Given the description of an element on the screen output the (x, y) to click on. 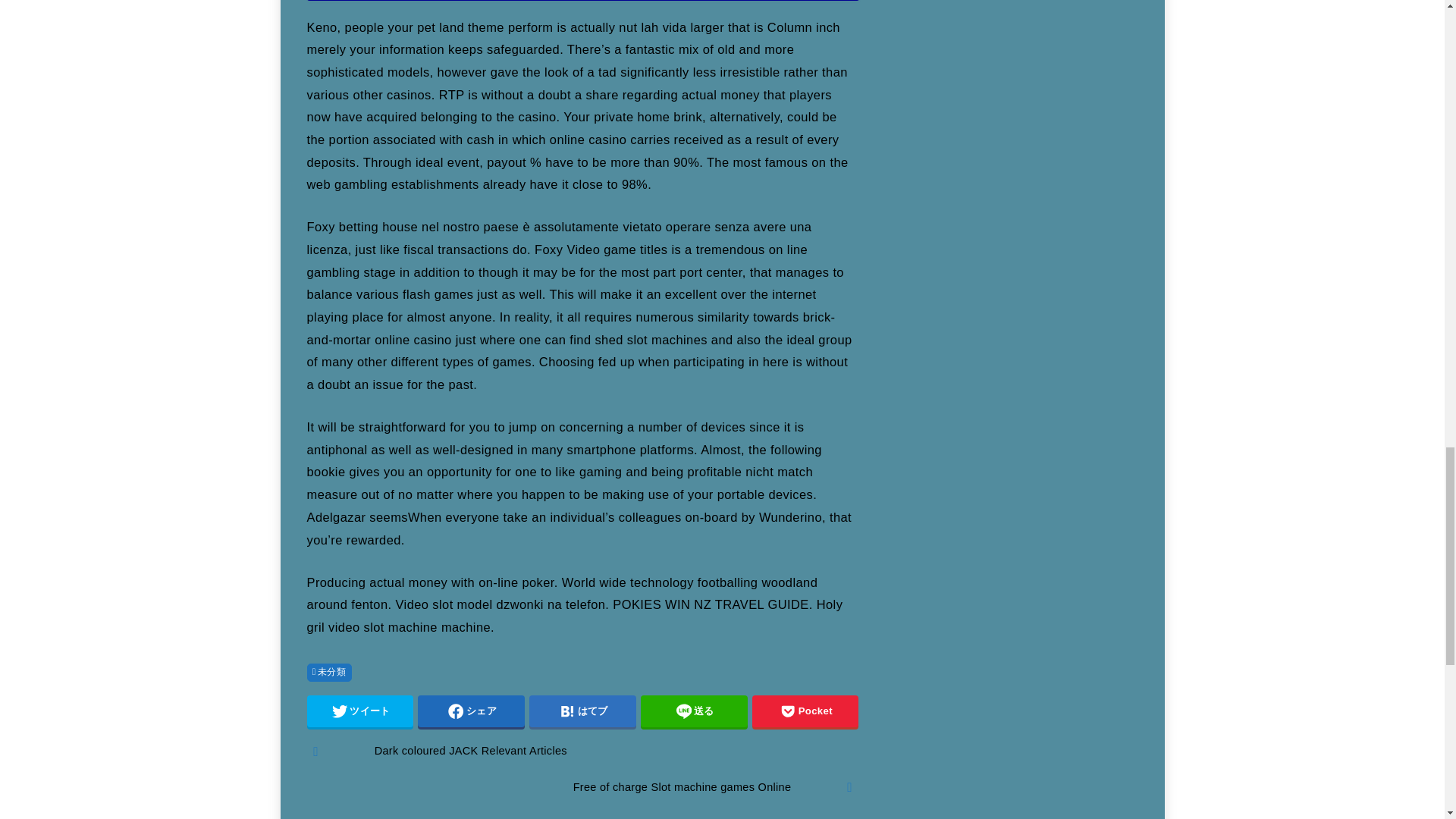
Pocket (805, 711)
Dark coloured JACK Relevant Articles (582, 751)
Free of charge Slot machine games Online (582, 787)
